Given the description of an element on the screen output the (x, y) to click on. 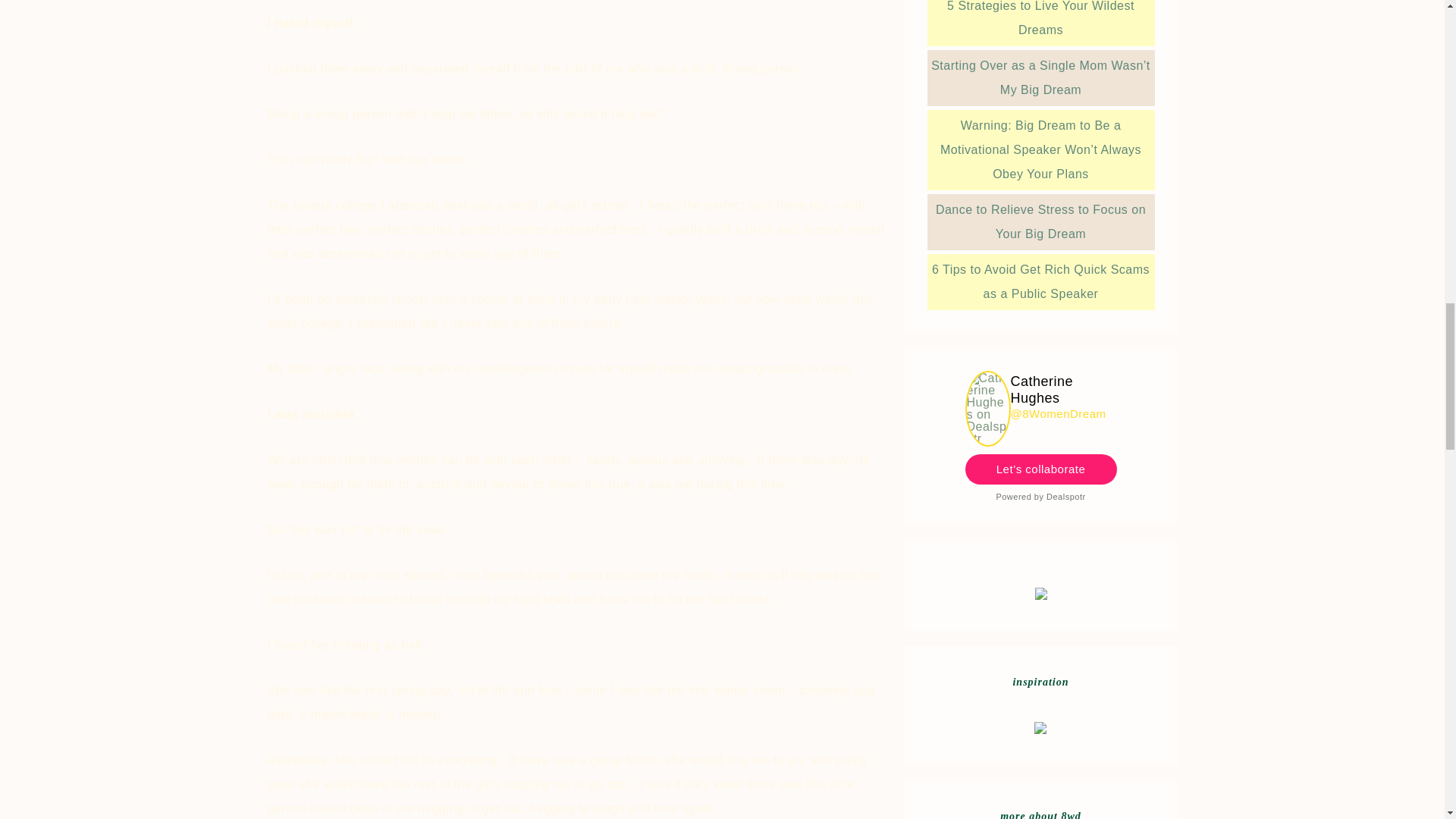
Catherine Hughes influencer marketing (986, 438)
